Given the description of an element on the screen output the (x, y) to click on. 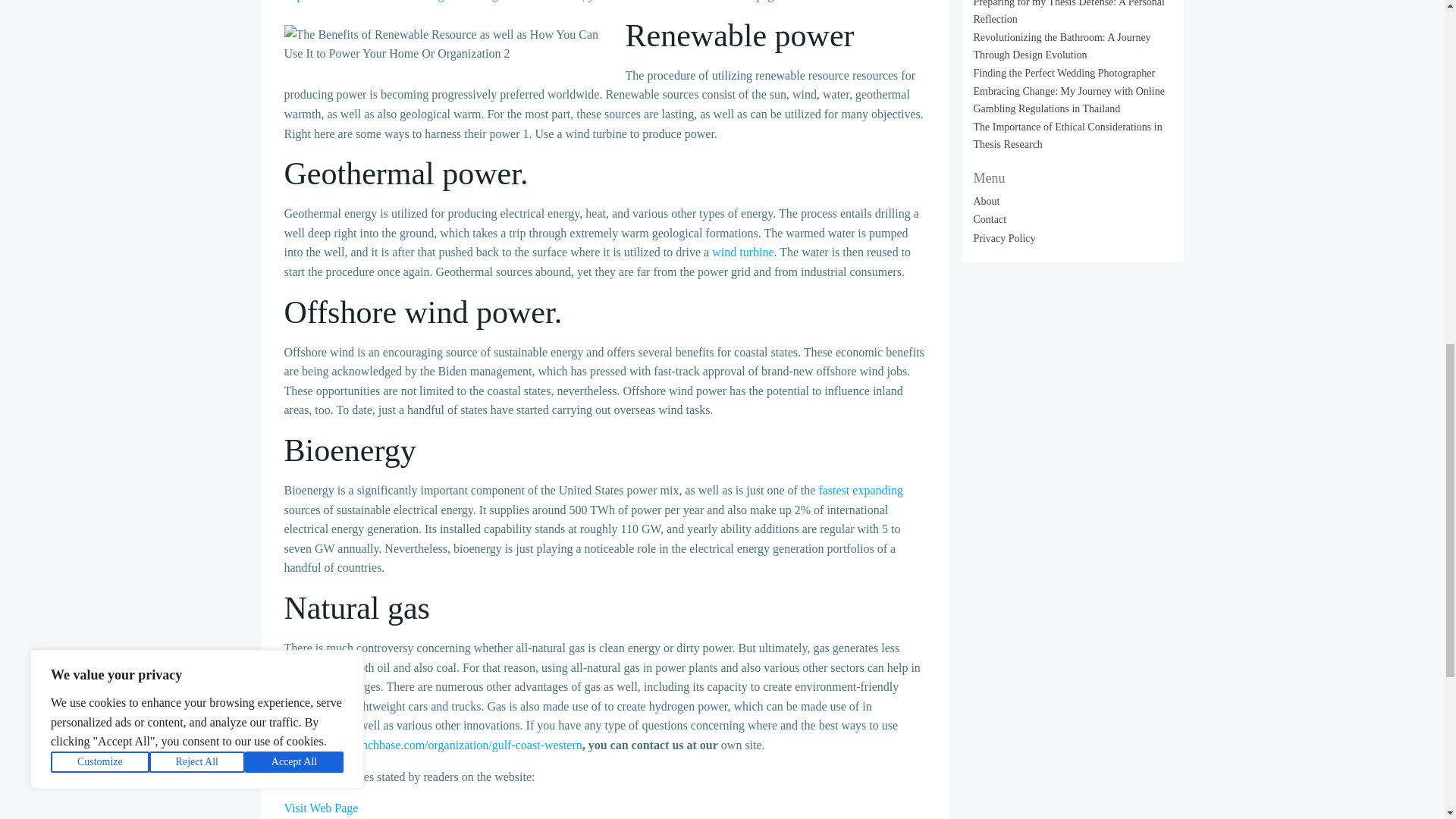
fastest expanding (860, 490)
Visit Web Page (320, 807)
wind turbine (742, 251)
